Given the description of an element on the screen output the (x, y) to click on. 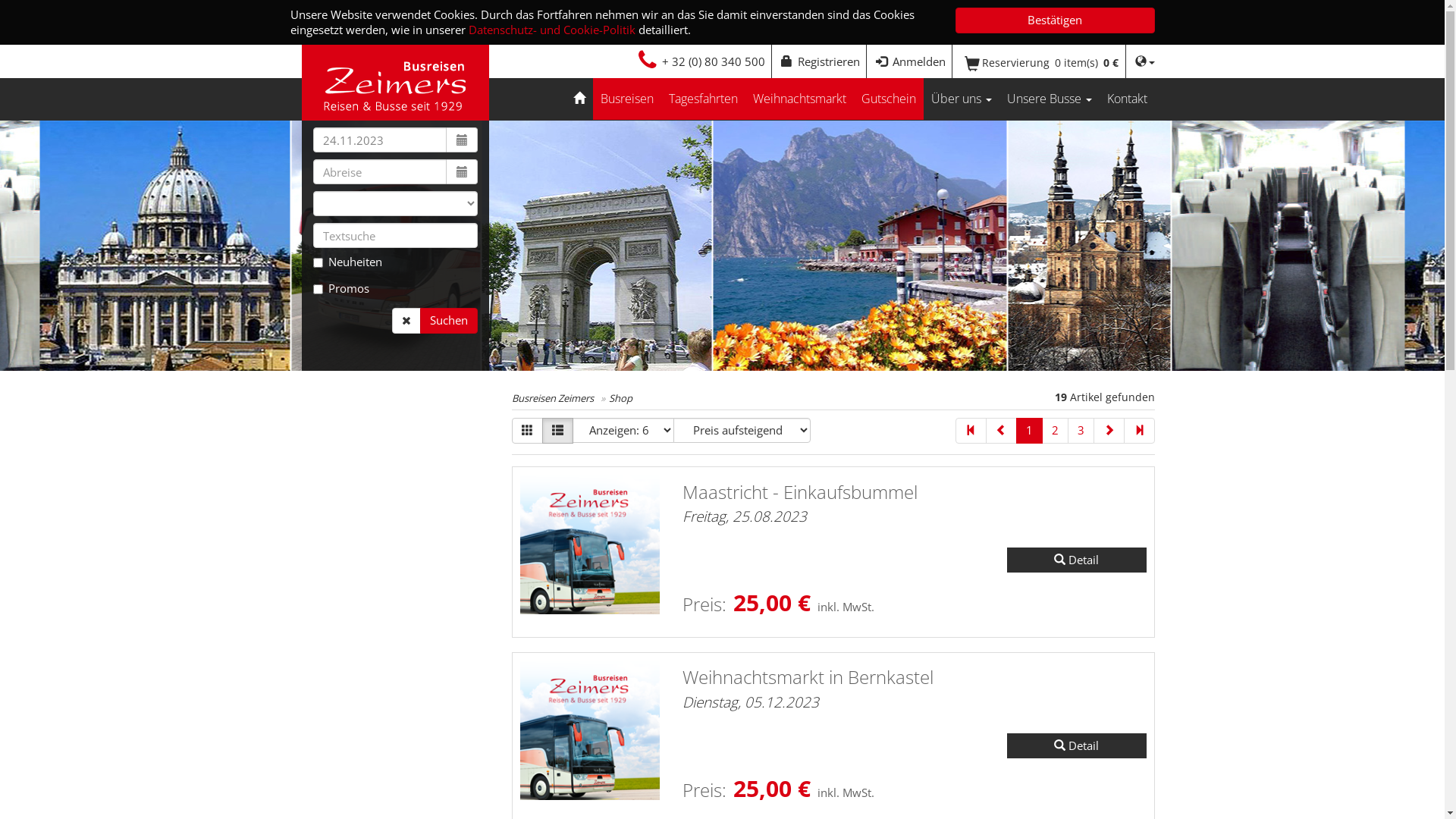
Registrieren Element type: text (820, 61)
Datenschutz- und Cookie-Politik Element type: text (551, 28)
Detail Element type: text (1076, 746)
Maastricht - Einkaufsbummel Element type: text (799, 503)
Suchen Element type: text (448, 320)
Busreisen Element type: text (627, 98)
Detail Element type: text (1076, 560)
Tagesfahrten Element type: text (703, 98)
2 Element type: text (1054, 430)
Busreisen Zeimers Element type: hover (395, 78)
Unsere Busse Element type: text (1049, 98)
Anmelden Element type: text (909, 61)
Weihnachtsmarkt Element type: text (798, 98)
Weihnachtsmarkt in Bernkastel Element type: text (807, 688)
Shop Element type: text (620, 397)
3 Element type: text (1080, 430)
Kontakt Element type: text (1126, 98)
Busreisen Zeimers Element type: text (552, 397)
Gutschein Element type: text (888, 98)
